Given the description of an element on the screen output the (x, y) to click on. 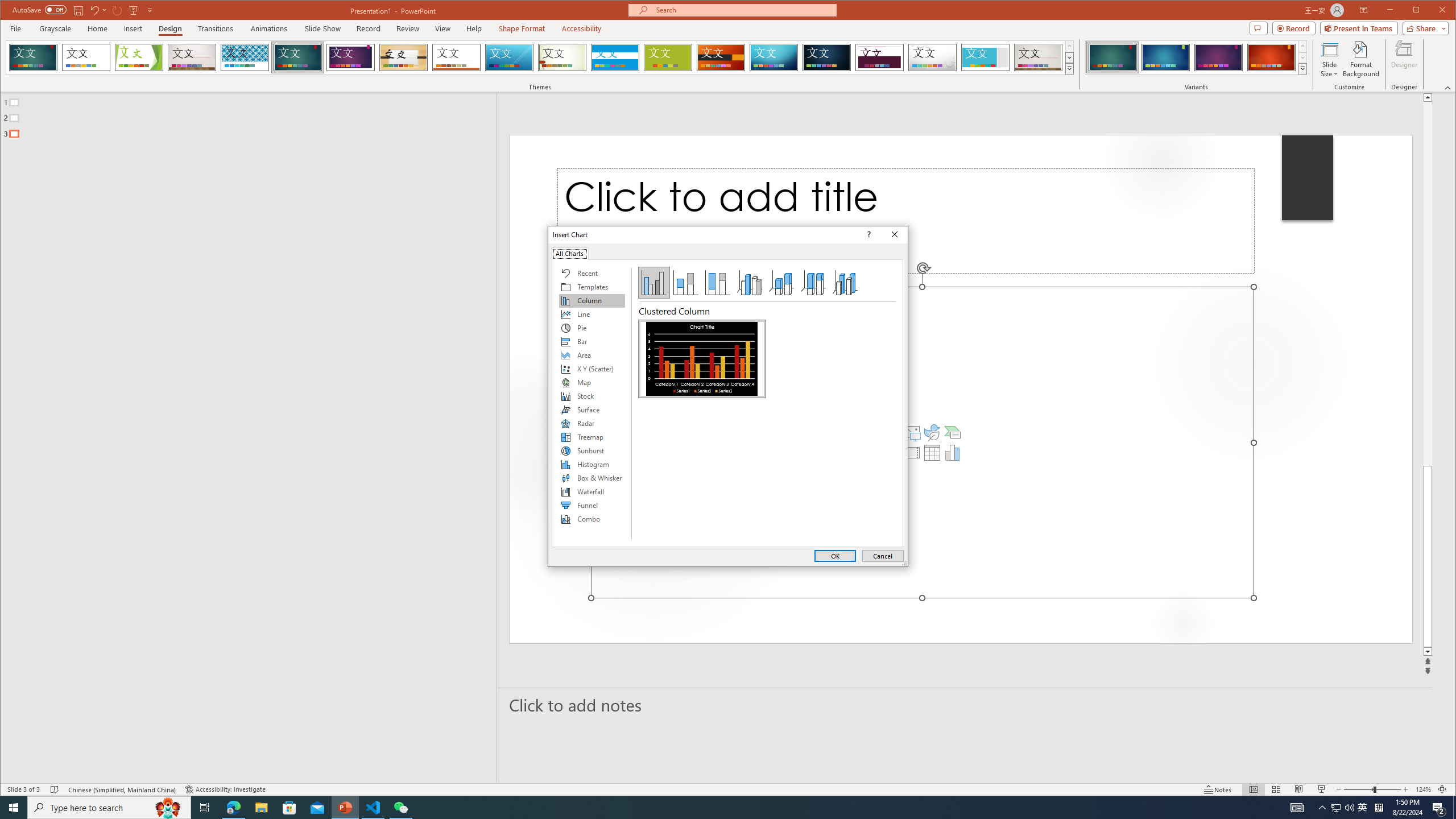
Outline (252, 115)
Ion (297, 57)
Insert Table (931, 452)
Slide Size (1328, 59)
Radar (591, 423)
Insert an Icon (931, 432)
Column (591, 300)
